Given the description of an element on the screen output the (x, y) to click on. 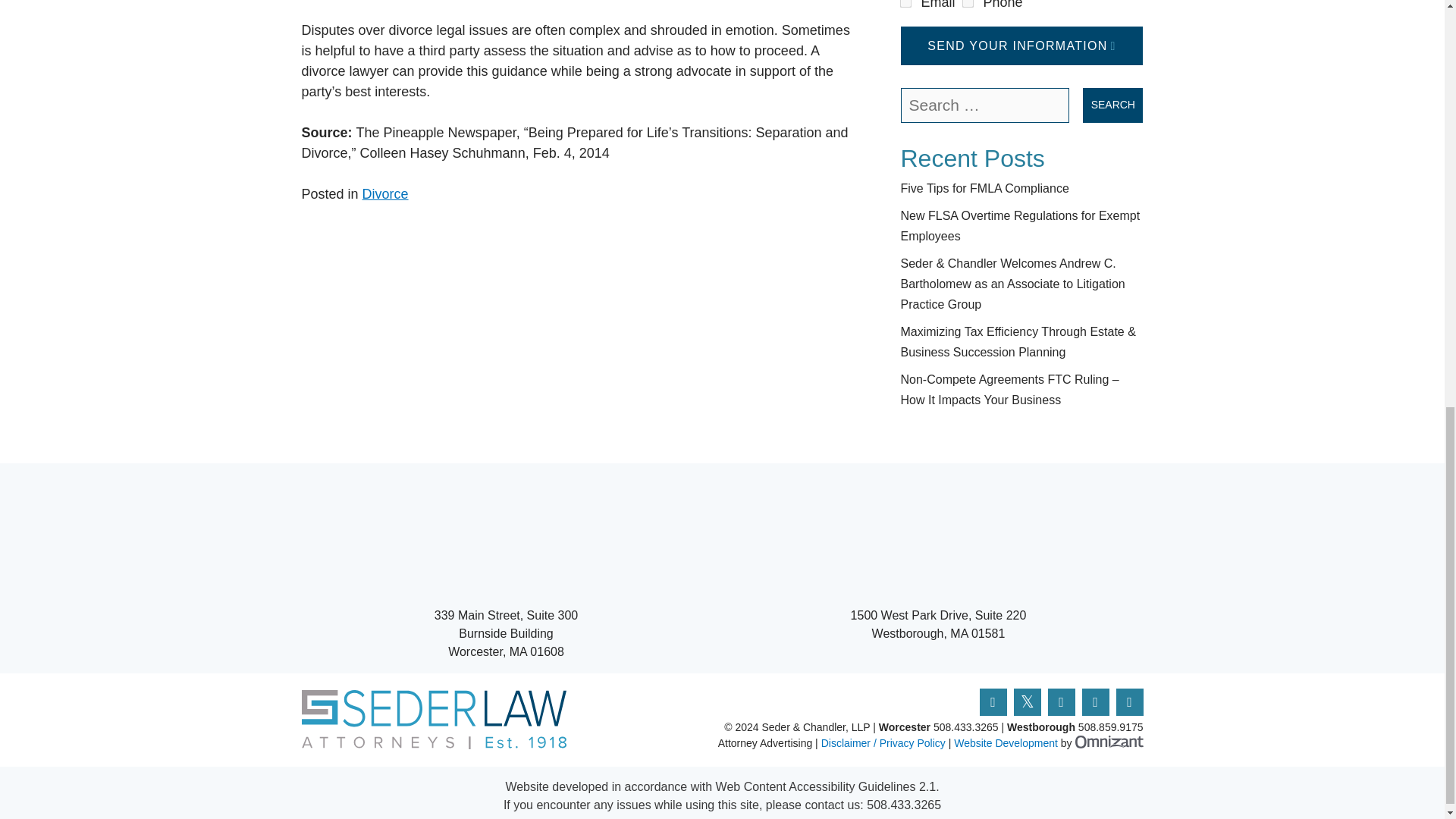
Search for: (985, 104)
Phone (965, 2)
Search (1112, 104)
Email (903, 2)
Search (1112, 104)
